Given the description of an element on the screen output the (x, y) to click on. 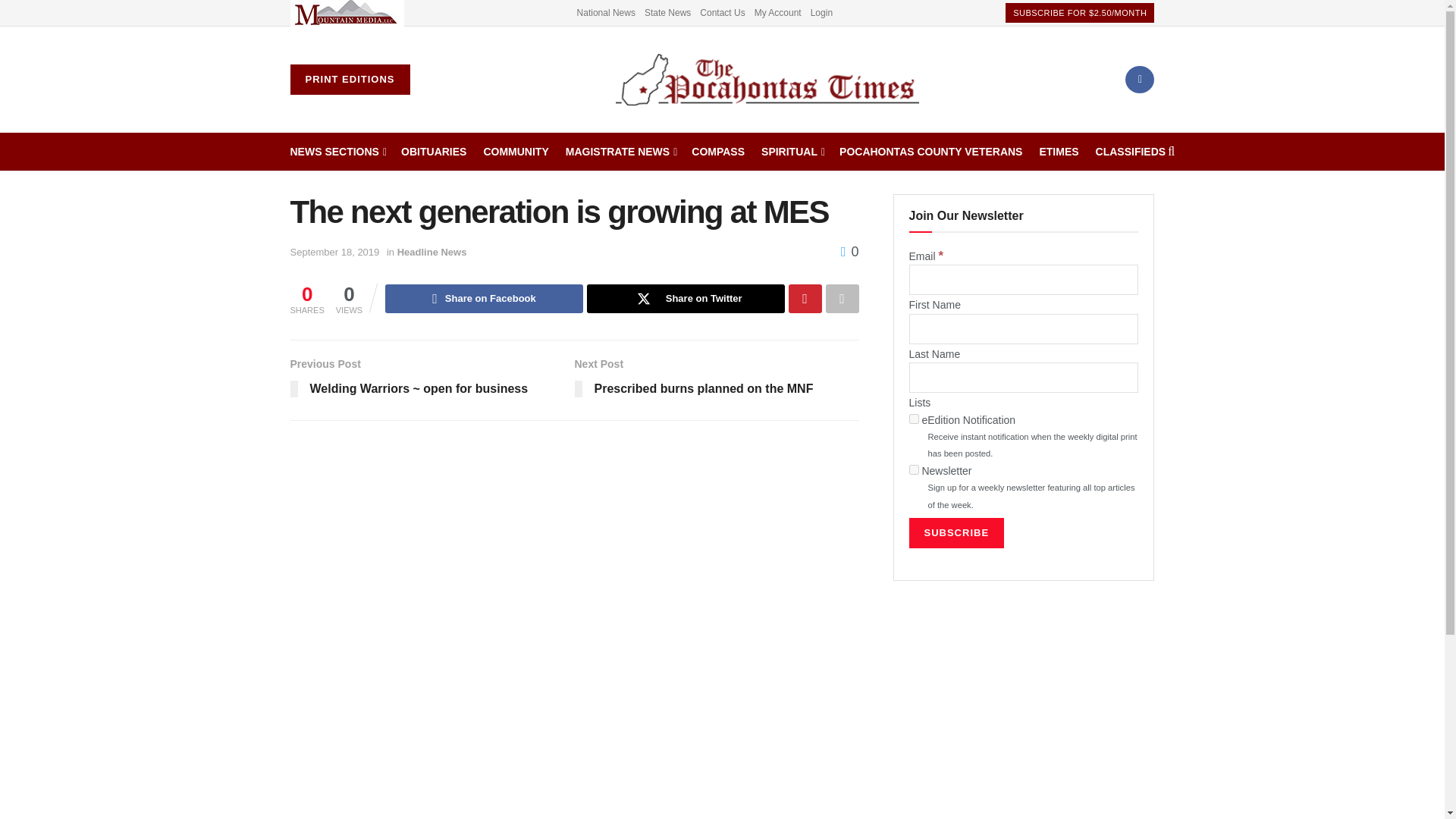
PRINT EDITIONS (349, 79)
Advertisement (1023, 714)
COMMUNITY (515, 151)
OBITUARIES (433, 151)
State News (667, 12)
Subscribe (956, 532)
My Account (778, 12)
1 (913, 419)
Headline News (432, 251)
2 (913, 470)
September 18, 2019 (333, 251)
COMPASS (717, 151)
ETIMES (1058, 151)
CLASSIFIEDS (1131, 151)
SPIRITUAL (791, 151)
